Given the description of an element on the screen output the (x, y) to click on. 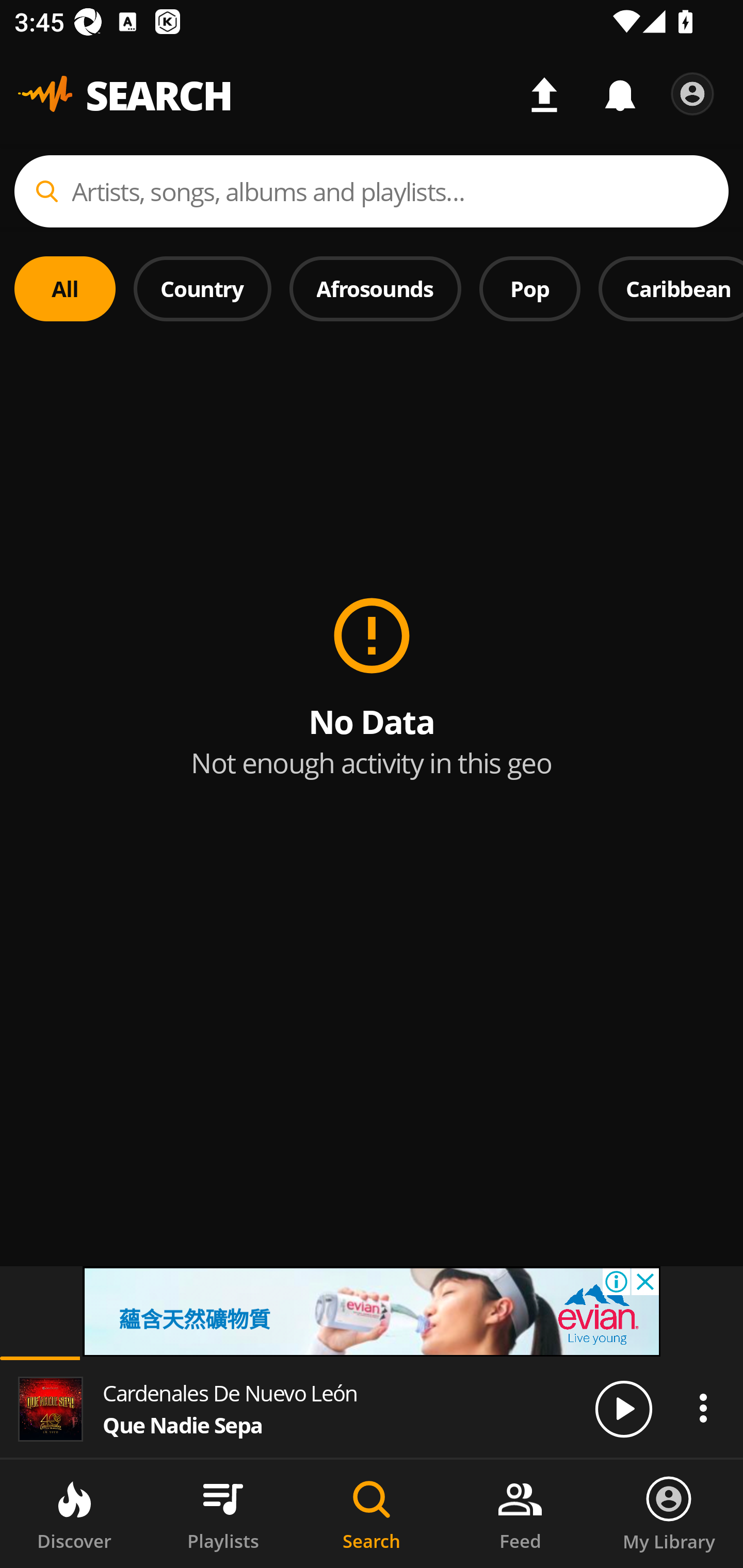
Settings (692, 94)
Artists, songs, albums and playlists… (371, 191)
All (64, 288)
Country (202, 288)
Afrosounds (375, 288)
Pop (529, 288)
Caribbean (670, 288)
Actions (703, 1407)
Play/Pause (623, 1408)
Discover (74, 1513)
Playlists (222, 1513)
Search (371, 1513)
Feed (519, 1513)
My Library (668, 1513)
